Given the description of an element on the screen output the (x, y) to click on. 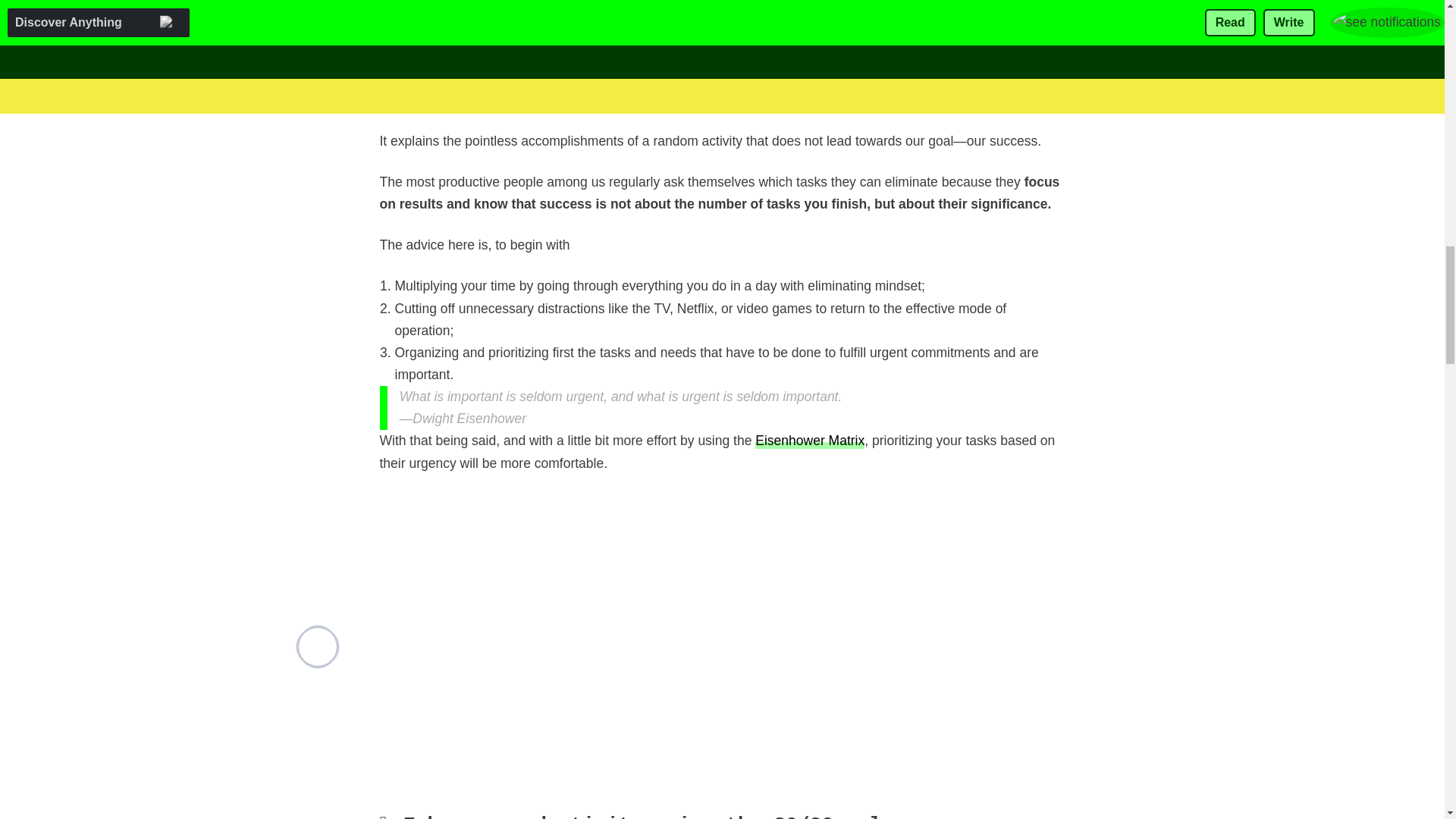
Eisenhower Matrix (809, 439)
